Given the description of an element on the screen output the (x, y) to click on. 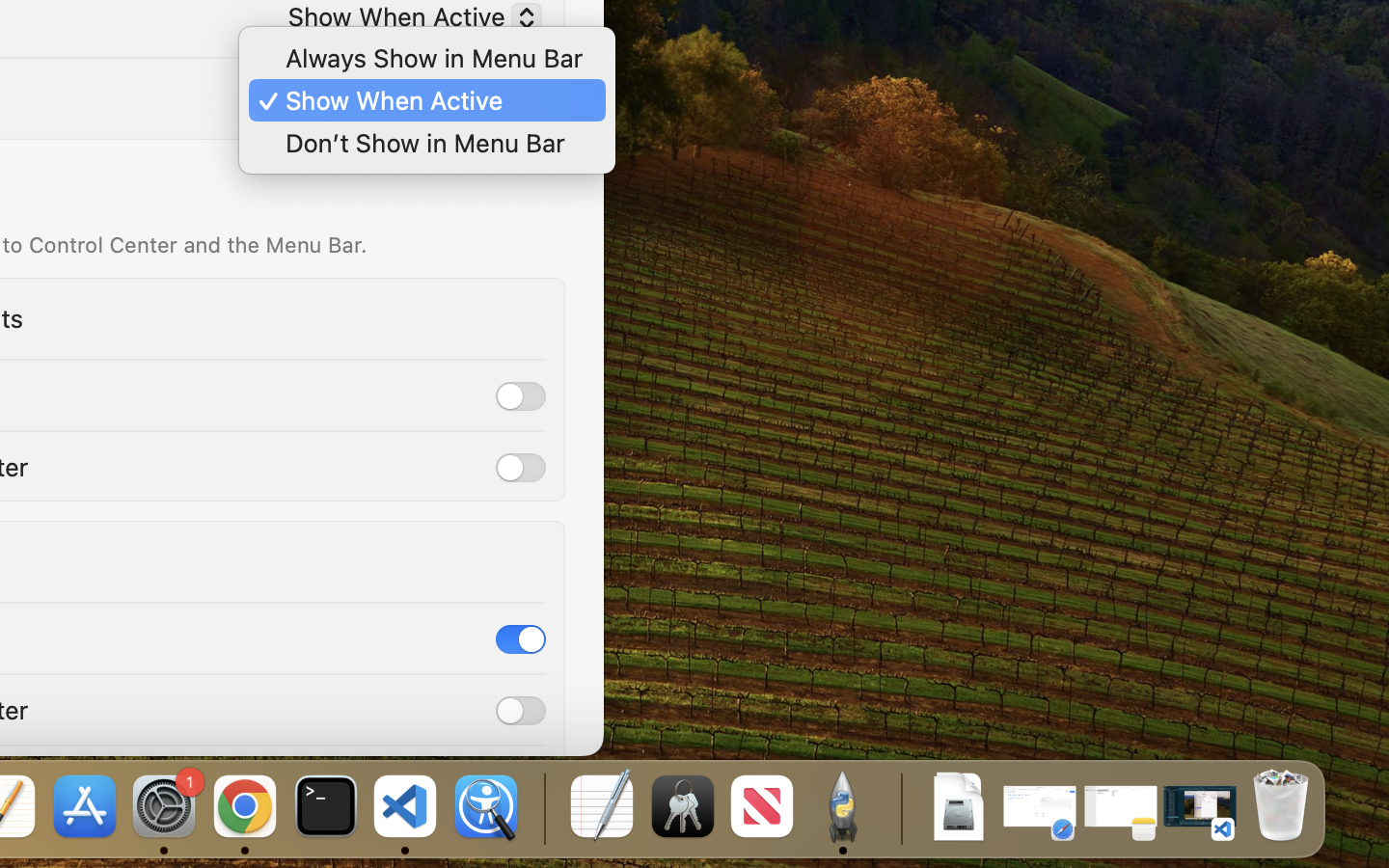
Show When Active Element type: AXPopUpButton (406, 103)
0.4285714328289032 Element type: AXDockItem (541, 807)
